Given the description of an element on the screen output the (x, y) to click on. 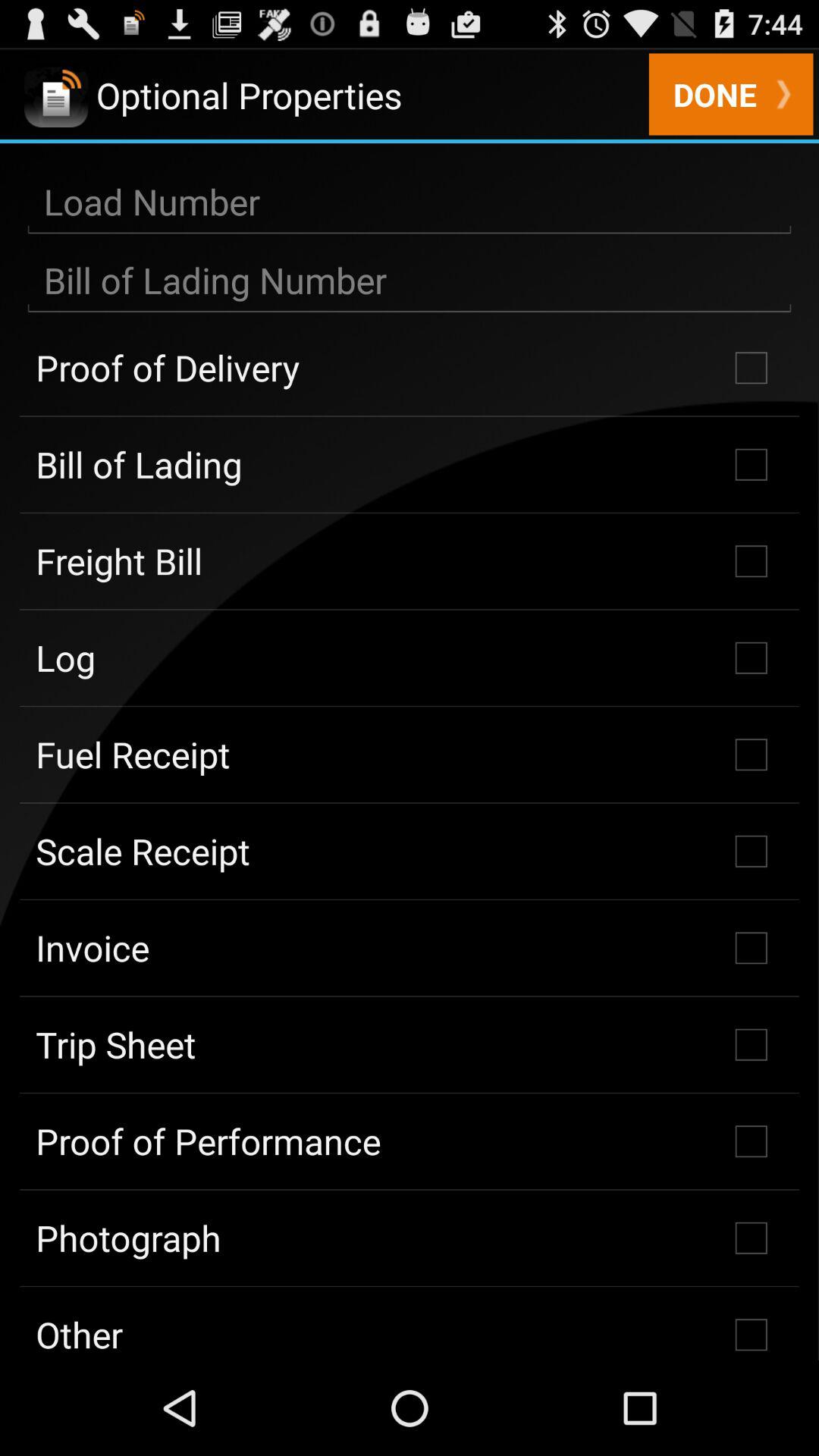
load number field (409, 202)
